Given the description of an element on the screen output the (x, y) to click on. 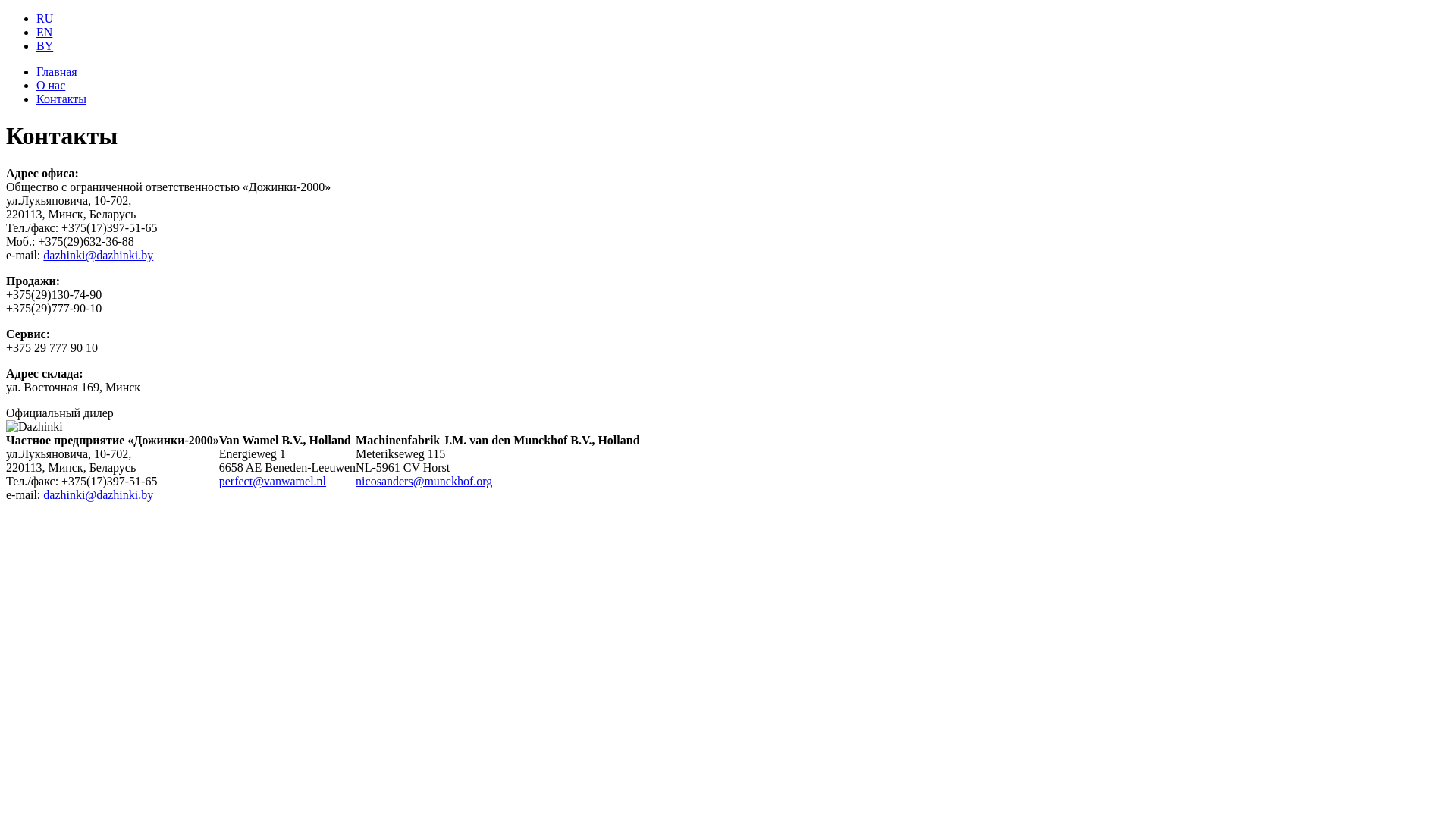
EN Element type: text (44, 31)
nicosanders@munckhof.org Element type: text (423, 480)
dazhinki@dazhinki.by Element type: text (98, 494)
BY Element type: text (44, 45)
perfect@vanwamel.nl Element type: text (272, 480)
RU Element type: text (44, 18)
dazhinki@dazhinki.by Element type: text (98, 254)
